Given the description of an element on the screen output the (x, y) to click on. 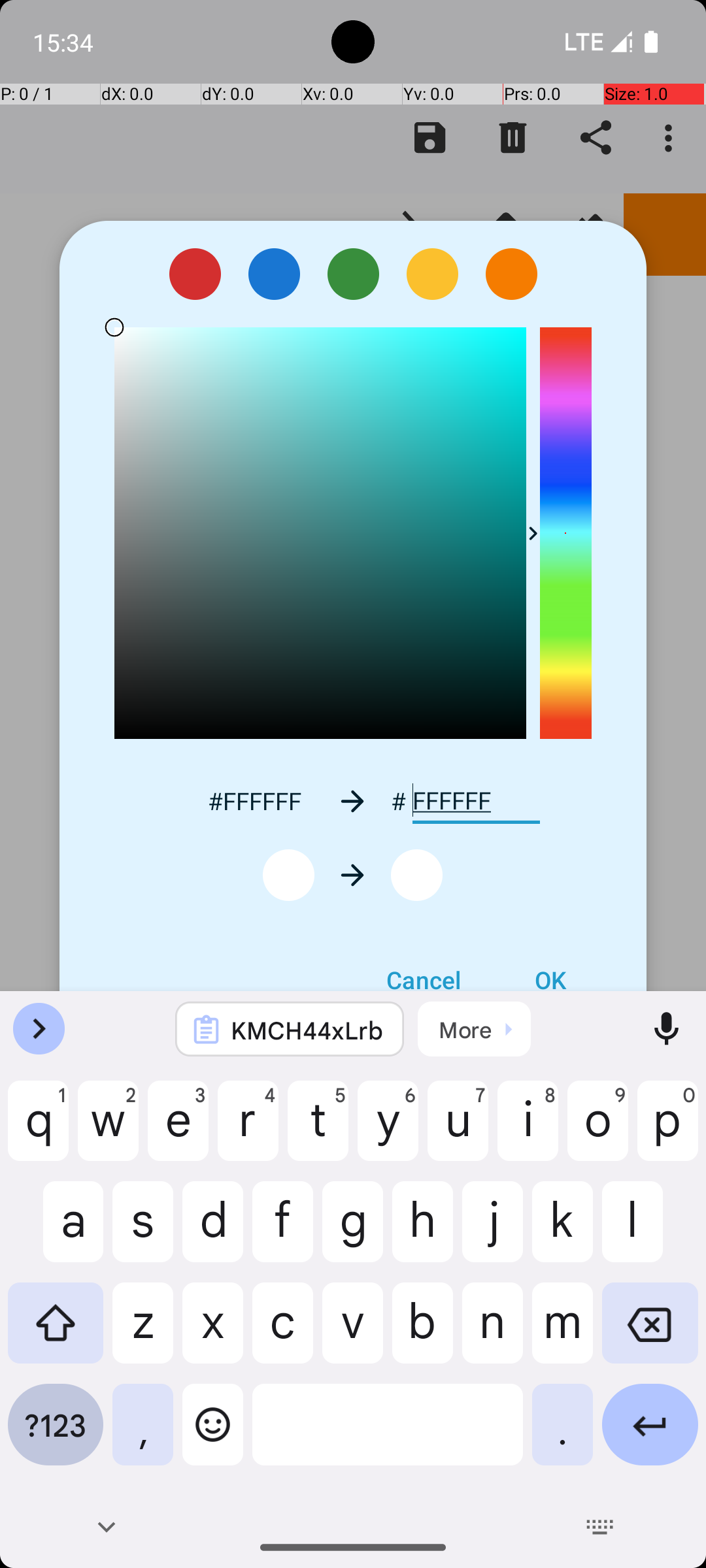
#FFFFFF Element type: android.widget.TextView (254, 800)
# Element type: android.widget.TextView (397, 800)
FFFFFF Element type: android.widget.EditText (475, 800)
KMCH44xLrb Element type: android.widget.TextView (306, 1029)
